Given the description of an element on the screen output the (x, y) to click on. 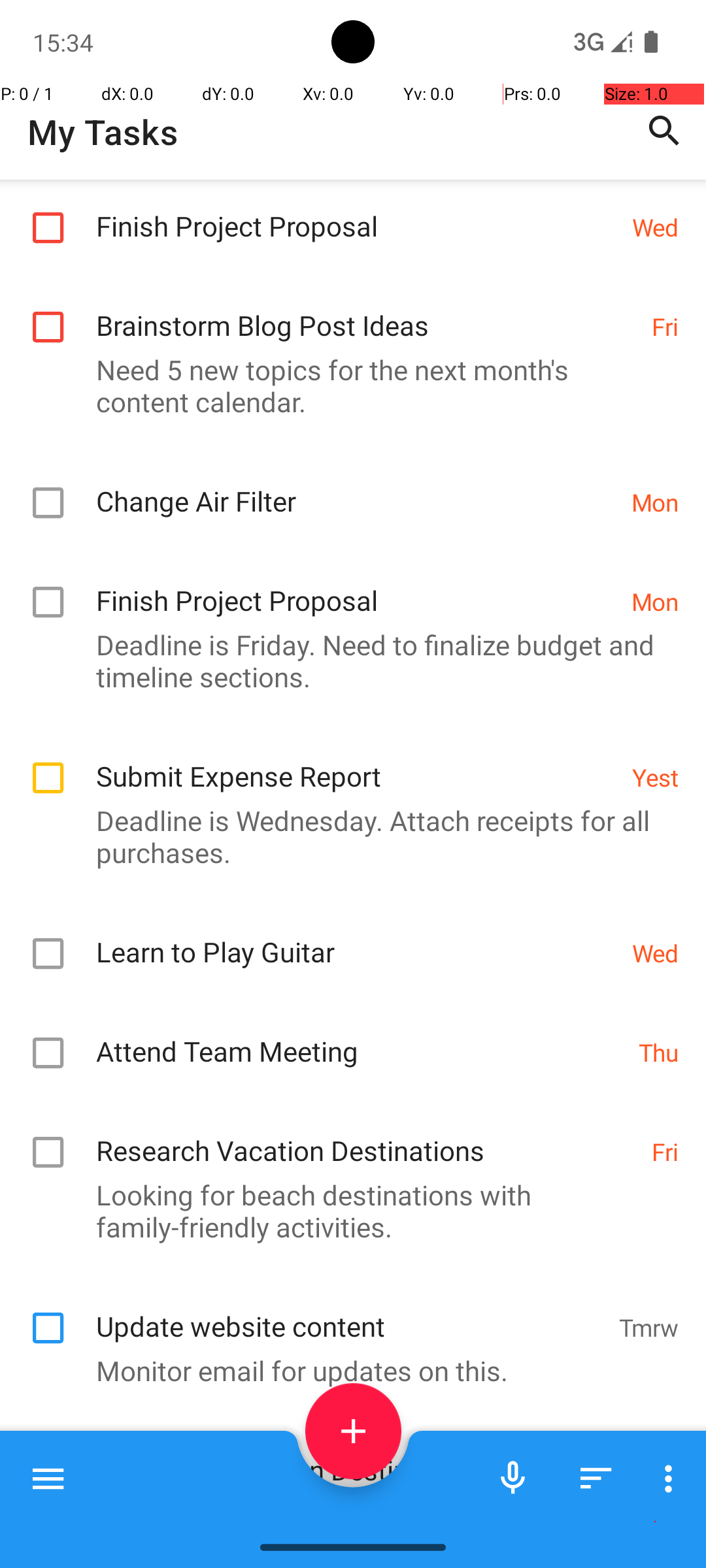
My Tasks Element type: android.widget.TextView (102, 131)
Sort Element type: android.widget.Button (595, 1478)
Finish Project Proposal Element type: android.widget.TextView (357, 211)
Wed Element type: android.widget.TextView (655, 226)
Brainstorm Blog Post Ideas Element type: android.widget.TextView (367, 310)
Need 5 new topics for the next month's content calendar. Element type: android.widget.TextView (346, 385)
Fri Element type: android.widget.TextView (665, 325)
Change Air Filter Element type: android.widget.TextView (356, 486)
Mon Element type: android.widget.TextView (654, 501)
Deadline is Friday. Need to finalize budget and timeline sections. Element type: android.widget.TextView (346, 660)
Submit Expense Report Element type: android.widget.TextView (357, 761)
Deadline is Wednesday. Attach receipts for all purchases. Element type: android.widget.TextView (346, 835)
Yest Element type: android.widget.TextView (655, 776)
Learn to Play Guitar Element type: android.widget.TextView (357, 937)
Attend Team Meeting Element type: android.widget.TextView (360, 1036)
Thu Element type: android.widget.TextView (658, 1051)
Research Vacation Destinations Element type: android.widget.TextView (367, 1136)
Looking for beach destinations with family-friendly activities. Element type: android.widget.TextView (346, 1210)
Update website content Element type: android.widget.TextView (350, 1311)
Monitor email for updates on this. Element type: android.widget.TextView (346, 1369)
Tmrw Element type: android.widget.TextView (648, 1326)
